Given the description of an element on the screen output the (x, y) to click on. 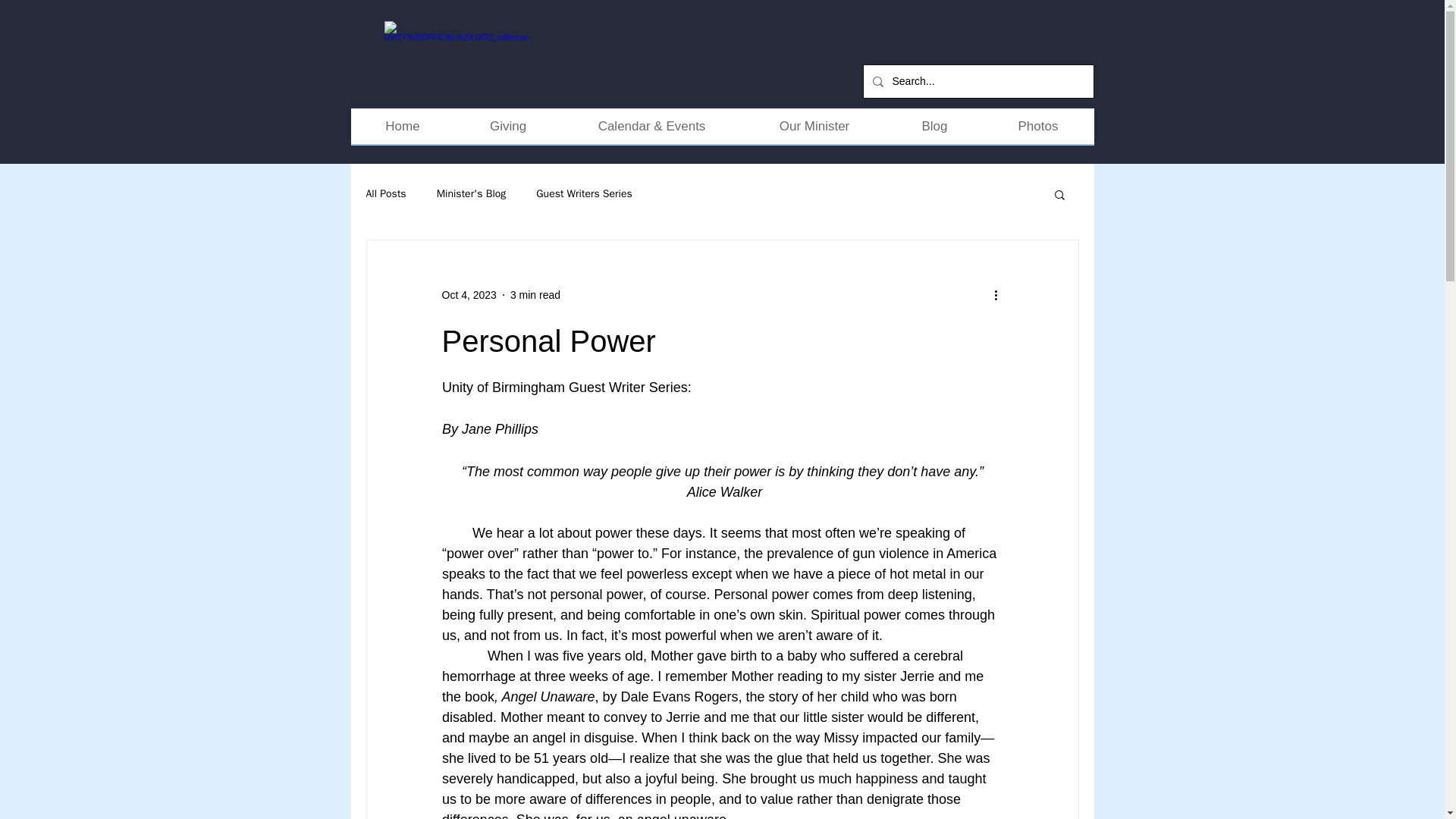
Giving (508, 131)
Blog (934, 131)
Our Minister (813, 131)
Oct 4, 2023 (468, 294)
All Posts (385, 193)
Minister's Blog (471, 193)
Photos (1038, 131)
3 min read (535, 294)
Guest Writers Series (583, 193)
Home (402, 131)
